Given the description of an element on the screen output the (x, y) to click on. 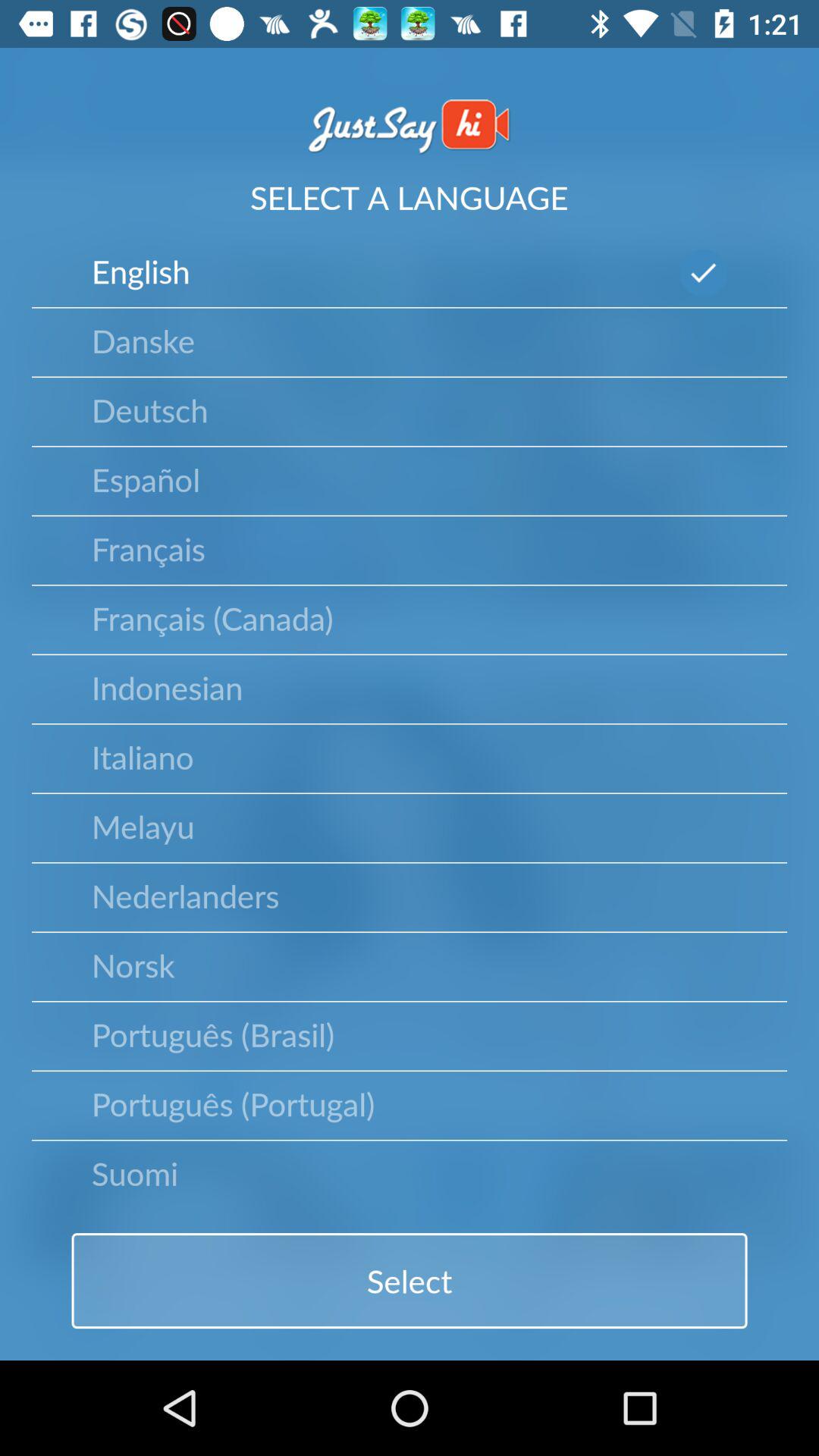
turn off the icon below the english icon (143, 340)
